Given the description of an element on the screen output the (x, y) to click on. 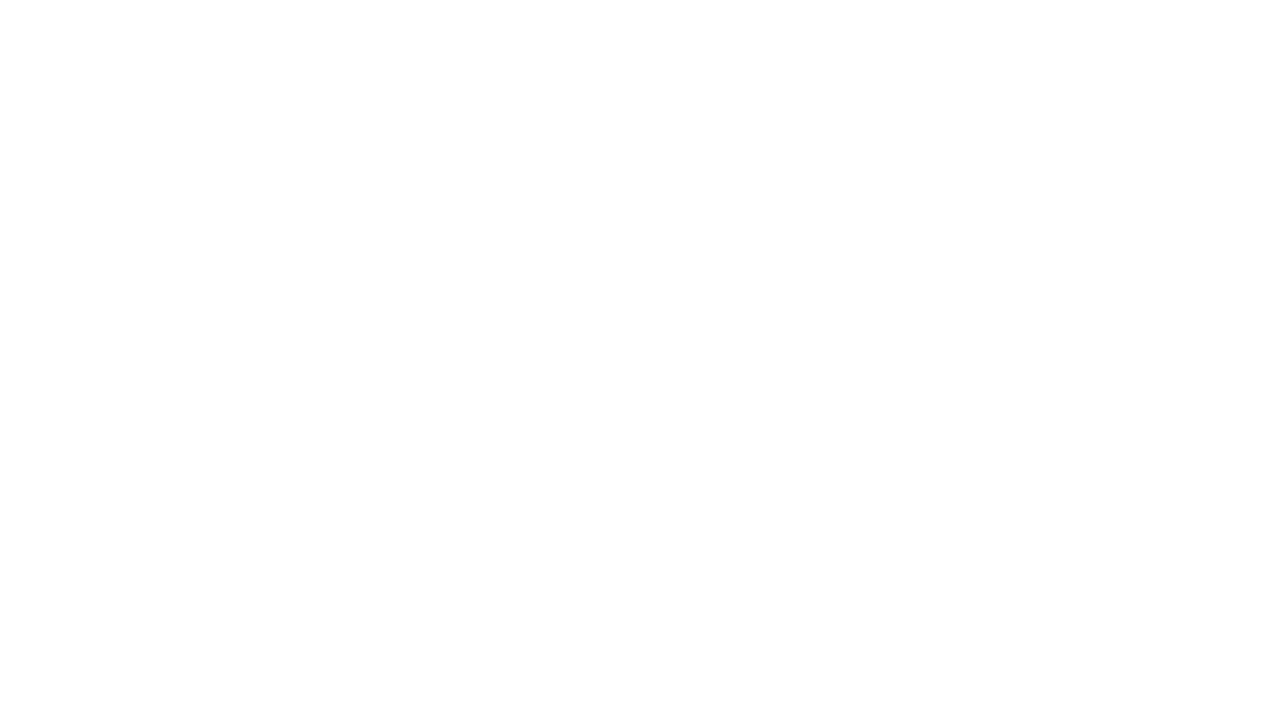
Zoom (1168, 668)
Zoom 100% (1258, 668)
